Given the description of an element on the screen output the (x, y) to click on. 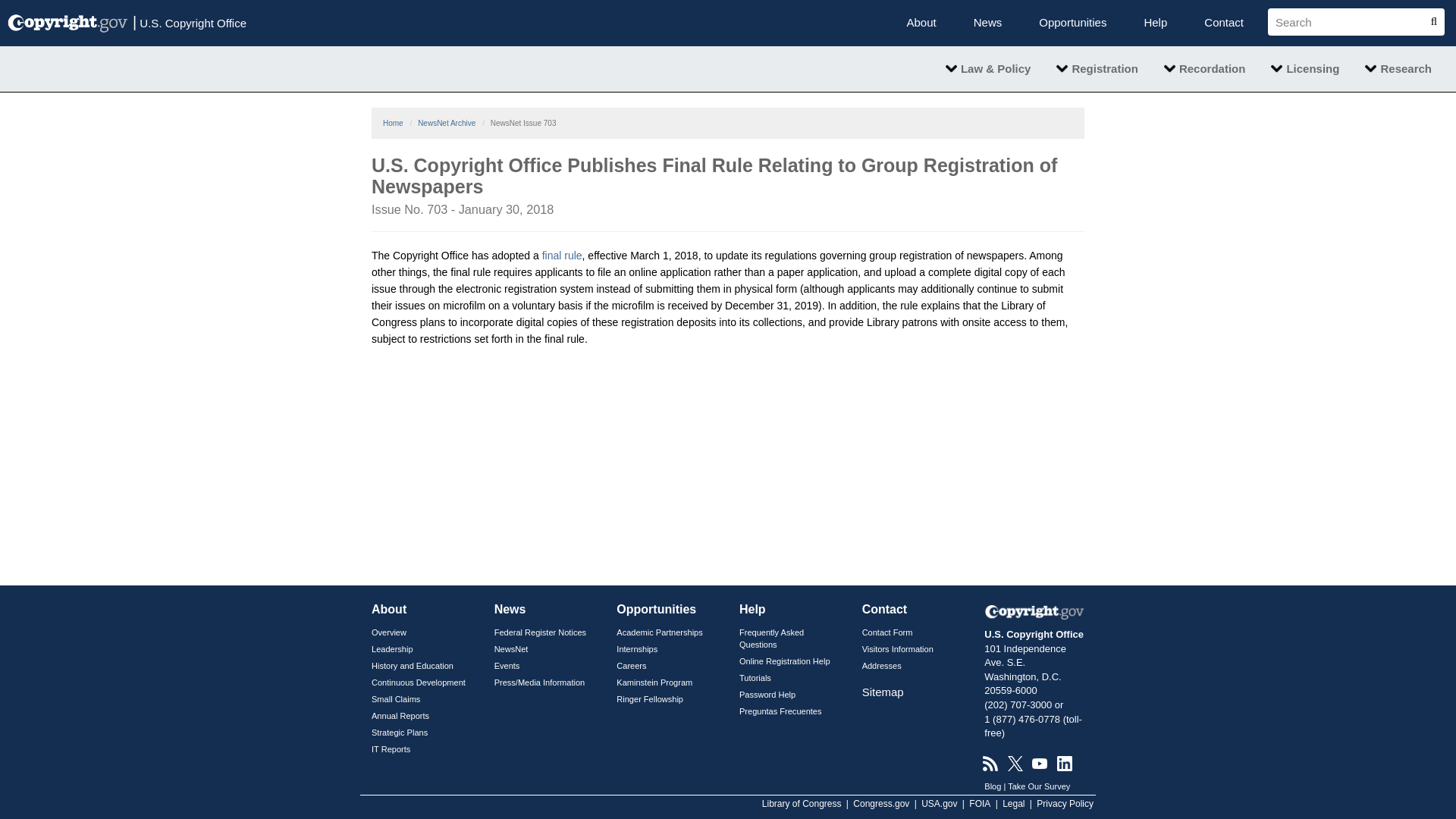
News (987, 22)
Registration (1097, 68)
Contact (1223, 22)
About (921, 22)
Search Copyright.gov (1350, 22)
Help (1155, 22)
Opportunities (1072, 22)
